Given the description of an element on the screen output the (x, y) to click on. 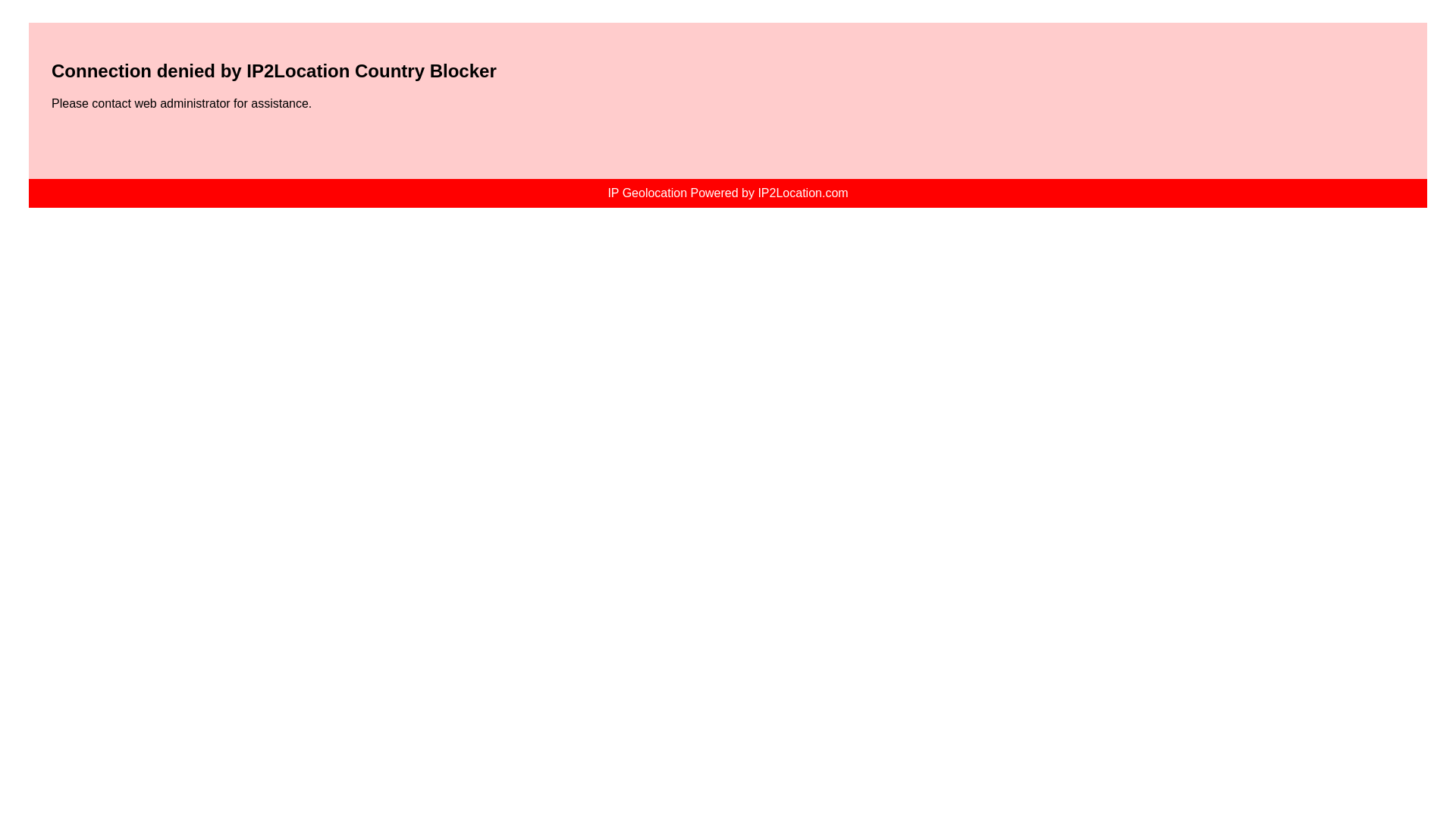
IP Geolocation Powered by IP2Location.com Element type: text (727, 192)
